Given the description of an element on the screen output the (x, y) to click on. 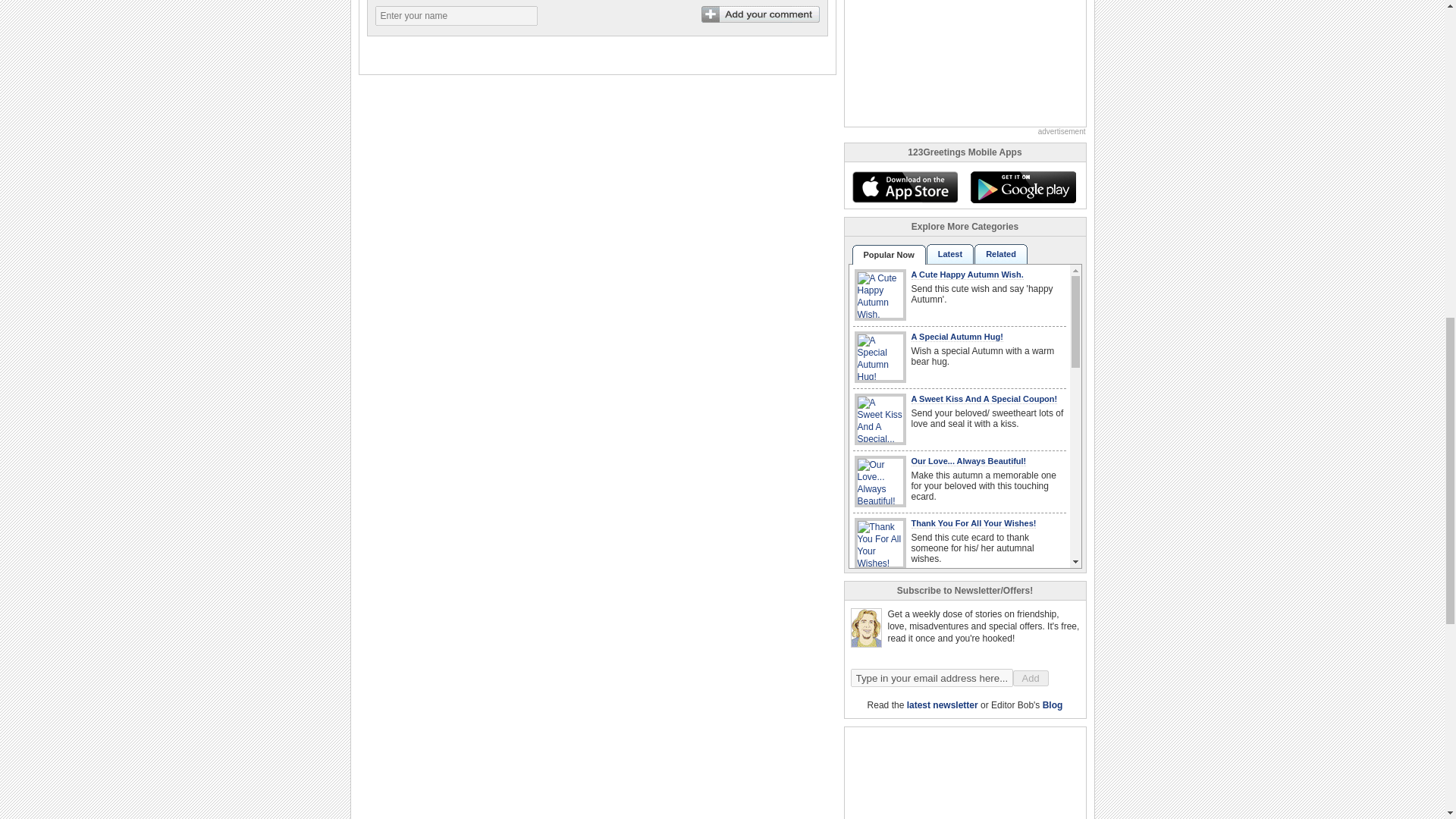
Type in your email address here... (931, 678)
